Given the description of an element on the screen output the (x, y) to click on. 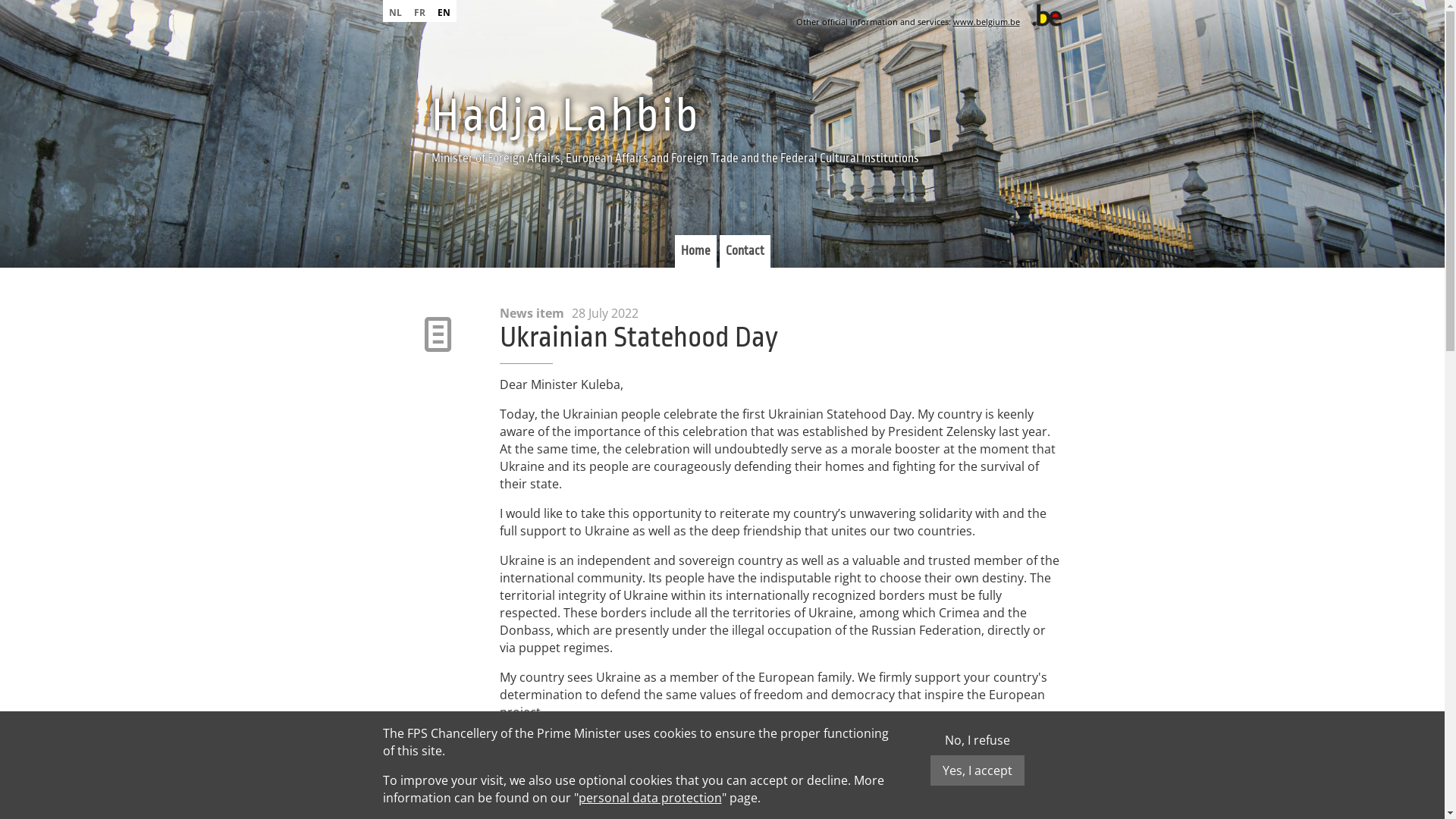
NL Element type: text (394, 11)
Yes, I accept Element type: text (976, 770)
No, I refuse Element type: text (977, 739)
Contact Element type: text (743, 251)
personal data protection Element type: text (649, 797)
FR Element type: text (419, 11)
Skip to main content Element type: text (59, 0)
www.belgium.be Element type: text (985, 21)
Hadja Lahbib Element type: text (565, 115)
Home Element type: text (695, 251)
EN Element type: text (442, 11)
